Given the description of an element on the screen output the (x, y) to click on. 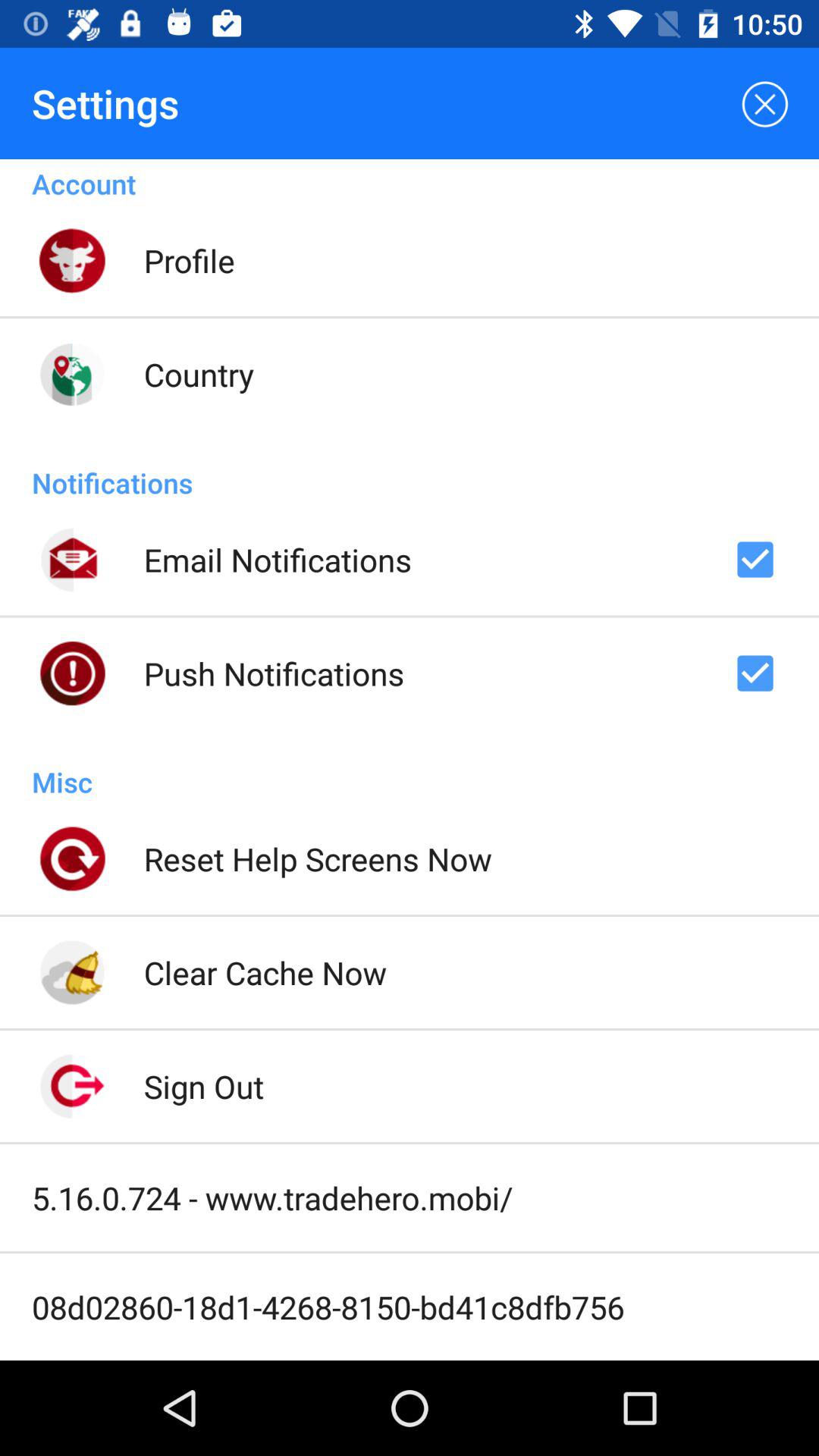
tap icon below profile icon (198, 373)
